Given the description of an element on the screen output the (x, y) to click on. 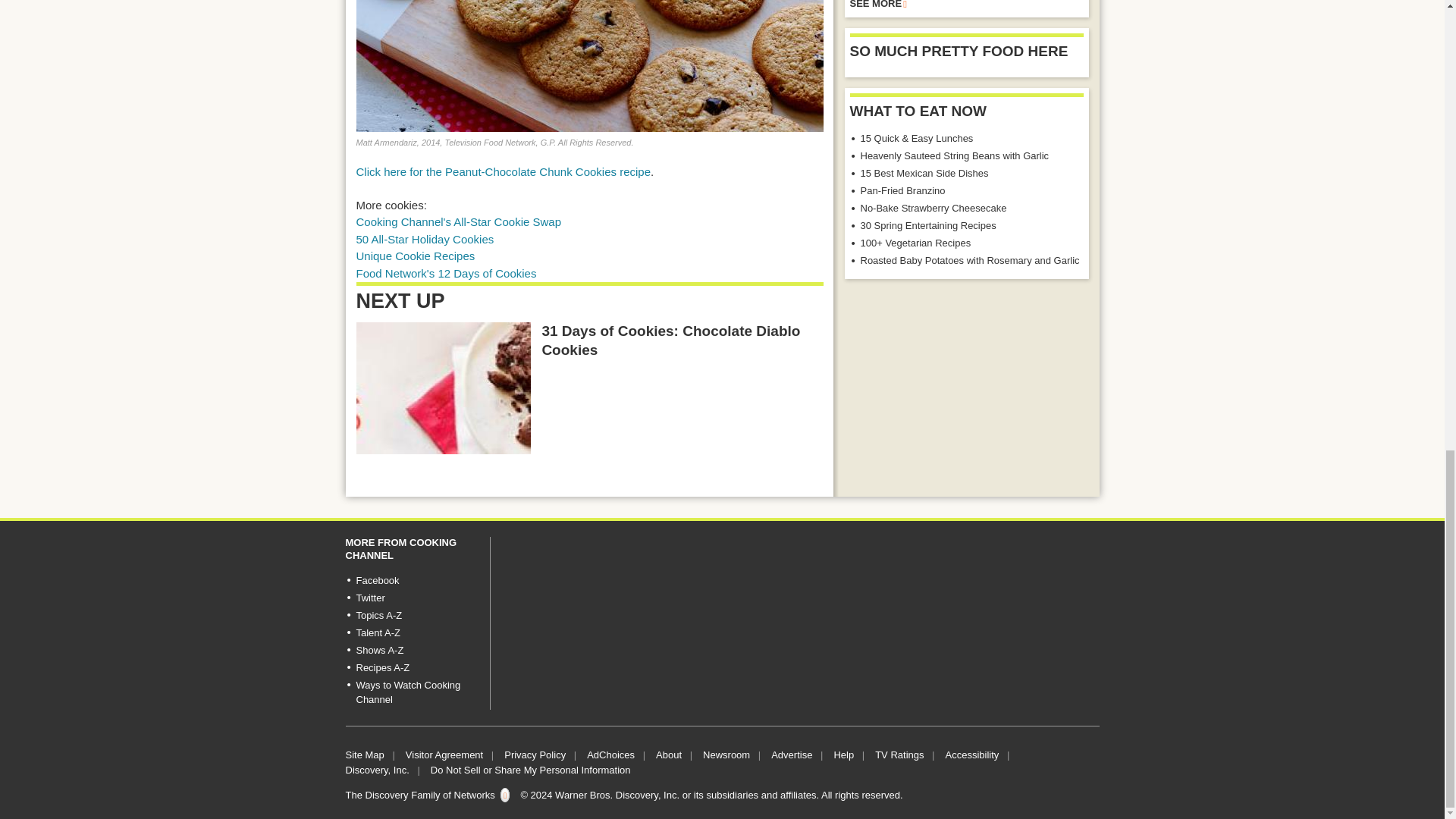
Cooking Channel (459, 221)
Cooking Channel's All-Star Cookie Swap (459, 221)
31 Days of Cookies: Chocolate Diablo Cookies (443, 388)
Click here for the Peanut-Chocolate Chunk Cookies recipe (503, 171)
Holiday Cookies Outside the Box (416, 255)
All-Star Cookies (425, 238)
50 All-Star Holiday Cookies (425, 238)
Food Network (446, 273)
